Given the description of an element on the screen output the (x, y) to click on. 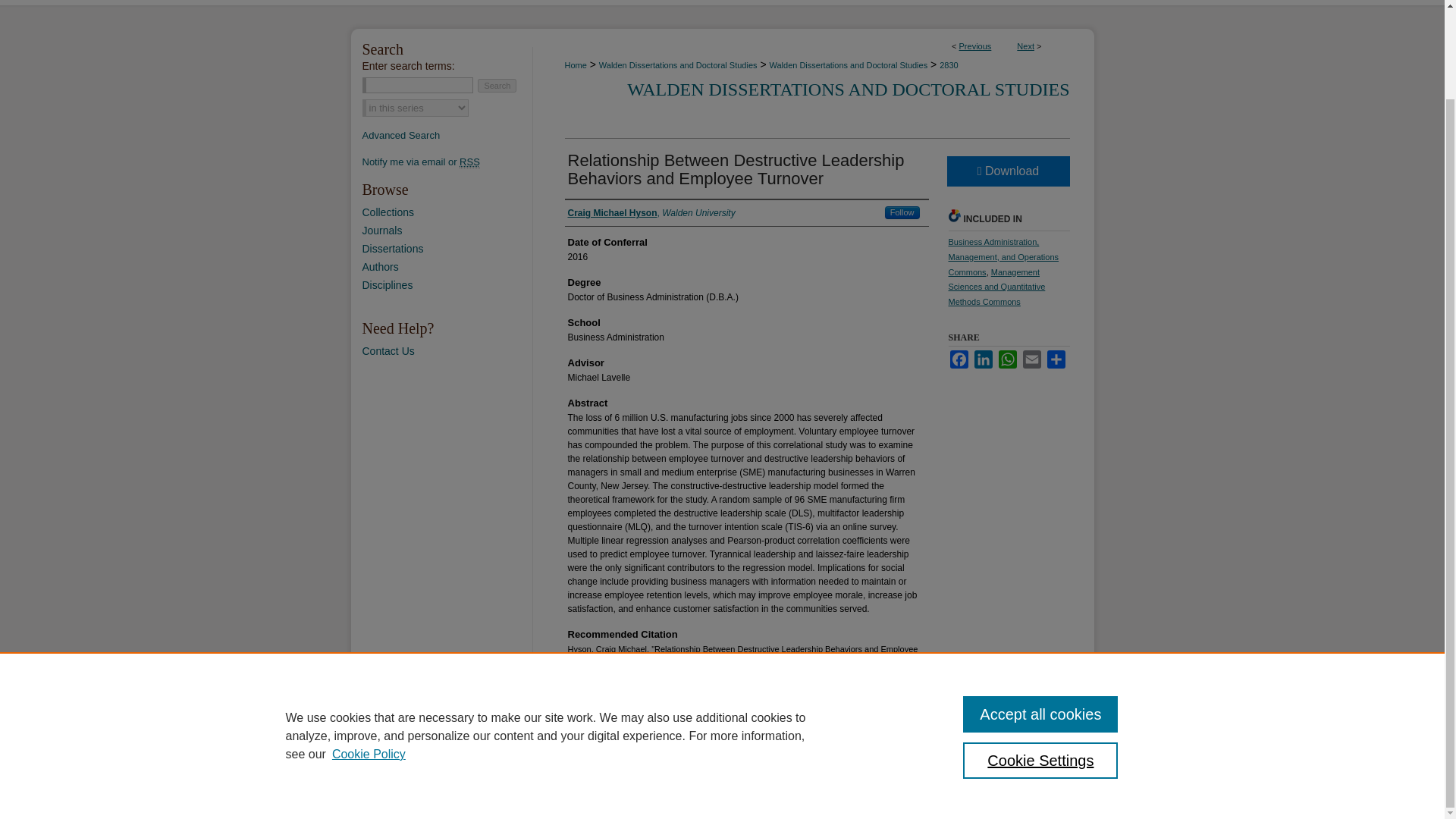
LinkedIn (982, 359)
Journals (447, 230)
Authors (447, 266)
Share (1055, 359)
Search (496, 85)
Follow Craig Michael Hyson (902, 212)
Collections (447, 212)
Management Sciences and Quantitative Methods Commons (996, 287)
Email (1031, 359)
Dissertations (447, 248)
WALDEN DISSERTATIONS AND DOCTORAL STUDIES (847, 89)
Advanced Search (401, 134)
Download (1007, 171)
Management Sciences and Quantitative Methods Commons (996, 287)
Search (496, 85)
